Given the description of an element on the screen output the (x, y) to click on. 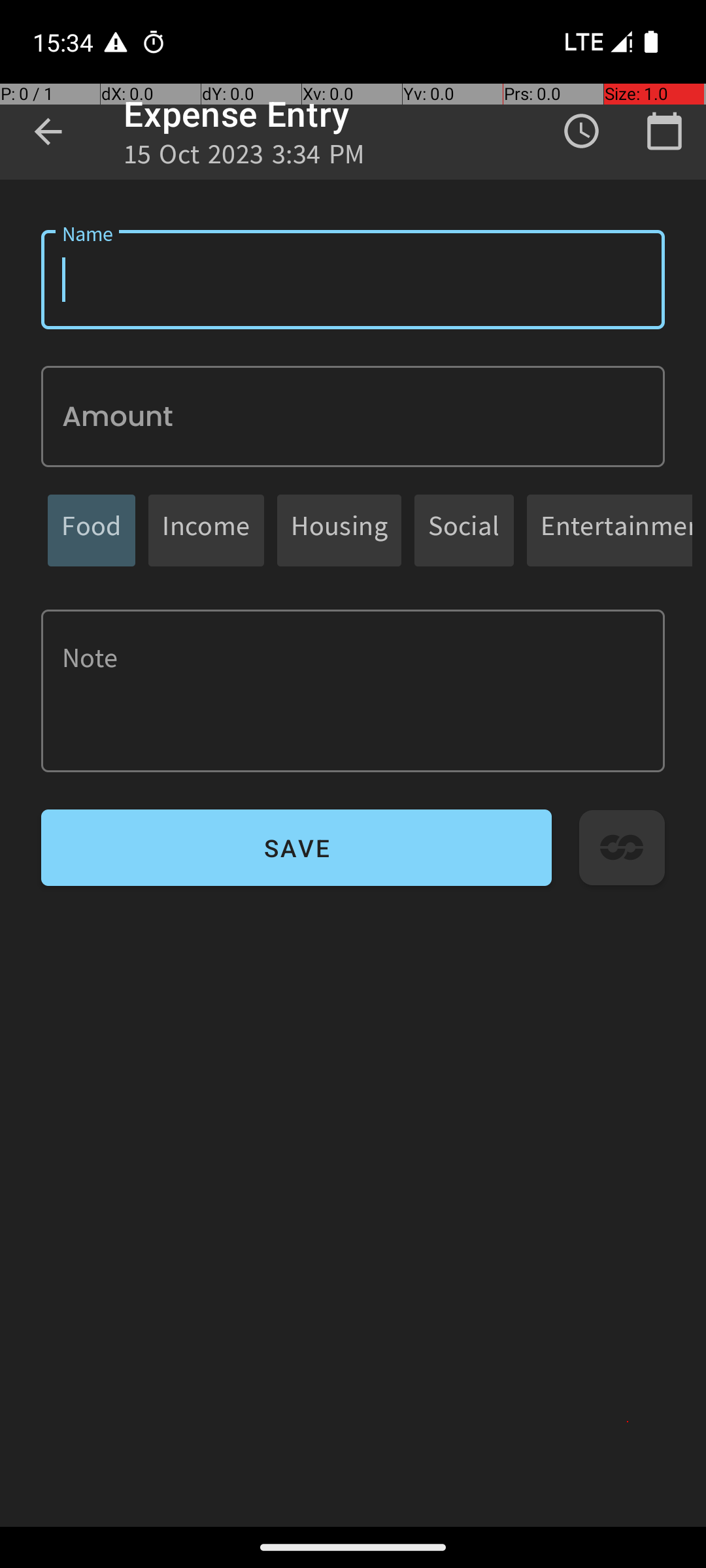
Expense Entry Element type: android.widget.TextView (236, 113)
15 Oct 2023 3:34 PM Element type: android.widget.TextView (244, 157)
Time Element type: android.widget.TextView (580, 131)
Calendar Element type: android.widget.TextView (664, 131)
Name Element type: android.widget.EditText (352, 279)
Amount Element type: android.widget.EditText (352, 416)
Note Element type: android.widget.EditText (352, 690)
SAVE Element type: android.widget.Button (296, 847)
Food Element type: android.widget.TextView (91, 530)
Income Element type: android.widget.TextView (206, 530)
Housing Element type: android.widget.TextView (338, 530)
Social Element type: android.widget.TextView (464, 530)
Entertainment Element type: android.widget.TextView (616, 530)
